Given the description of an element on the screen output the (x, y) to click on. 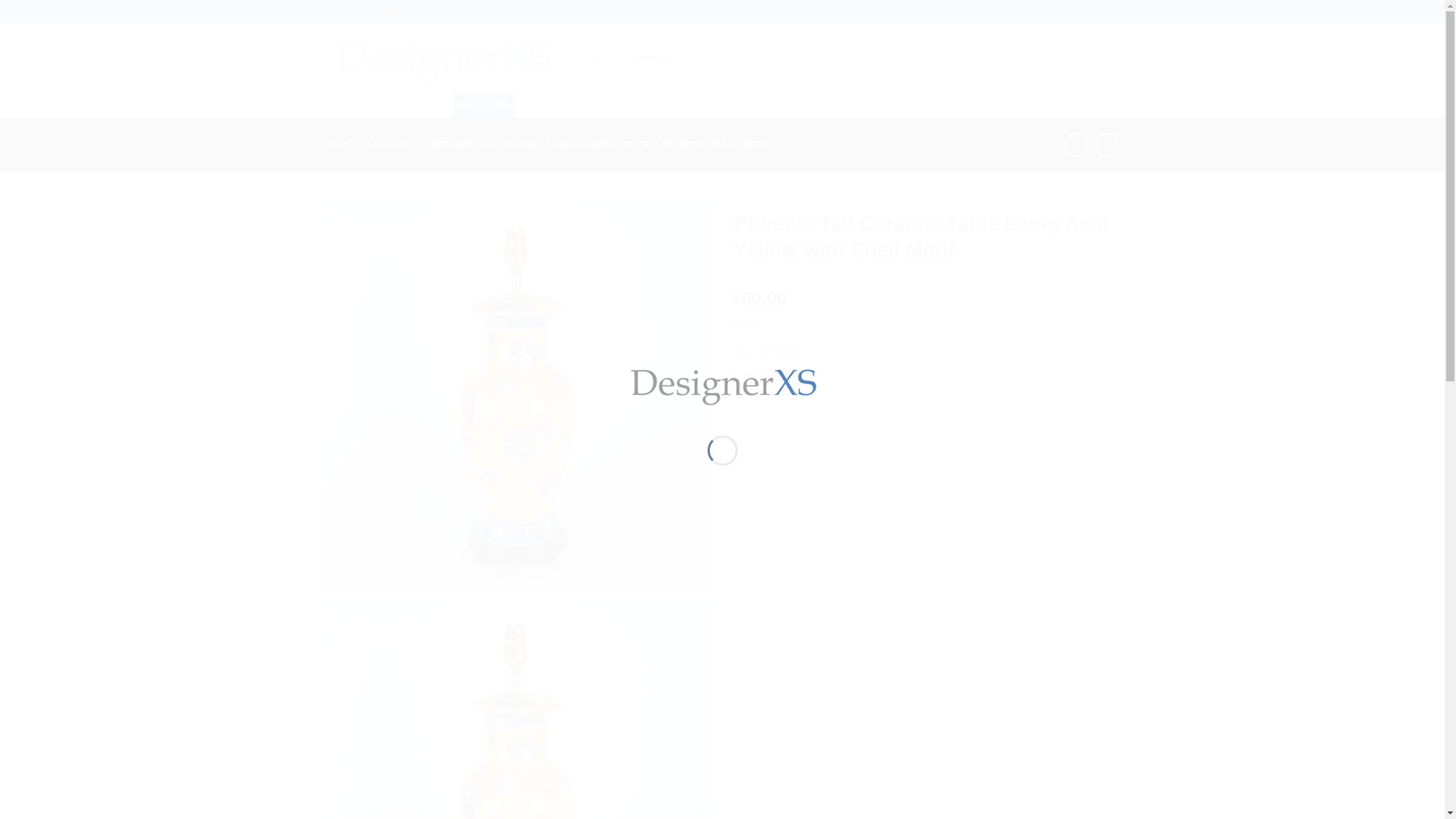
0203 002 9449 (362, 11)
Search (757, 57)
Zoom (347, 566)
Order Tracking (1001, 11)
CUSHIONS (552, 104)
0203 002 9449 (362, 11)
LINEN (429, 104)
Contact (1102, 11)
TABLEWARE (366, 104)
LIGHTING (483, 104)
